Given the description of an element on the screen output the (x, y) to click on. 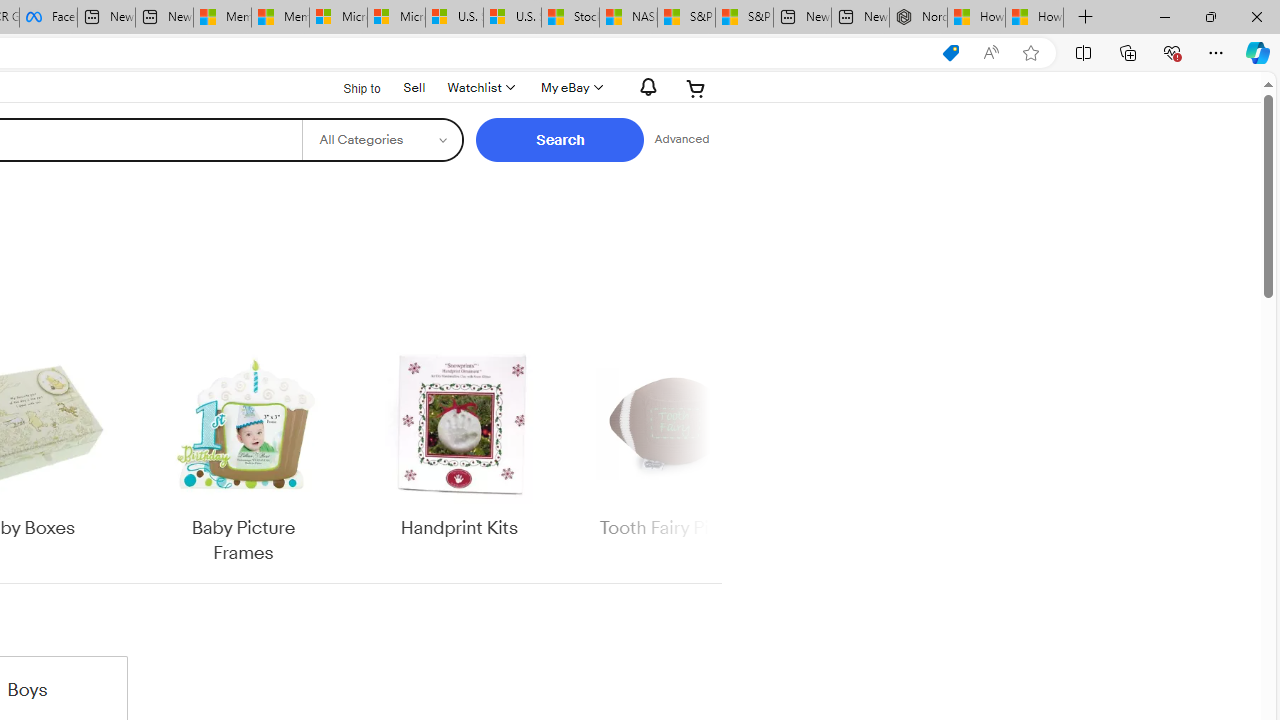
Notifications (642, 87)
Close (1256, 16)
How to Use a Monitor With Your Closed Laptop (1034, 17)
Handprint Kits (459, 443)
Sell (413, 86)
Add this page to favorites (Ctrl+D) (1030, 53)
Collections (1128, 52)
My eBayExpand My eBay (569, 88)
Your shopping cart (696, 88)
Minimize (1164, 16)
Browser essentials (1171, 52)
Restore (1210, 16)
S&P 500, Nasdaq end lower, weighed by Nvidia dip | Watch (744, 17)
